Given the description of an element on the screen output the (x, y) to click on. 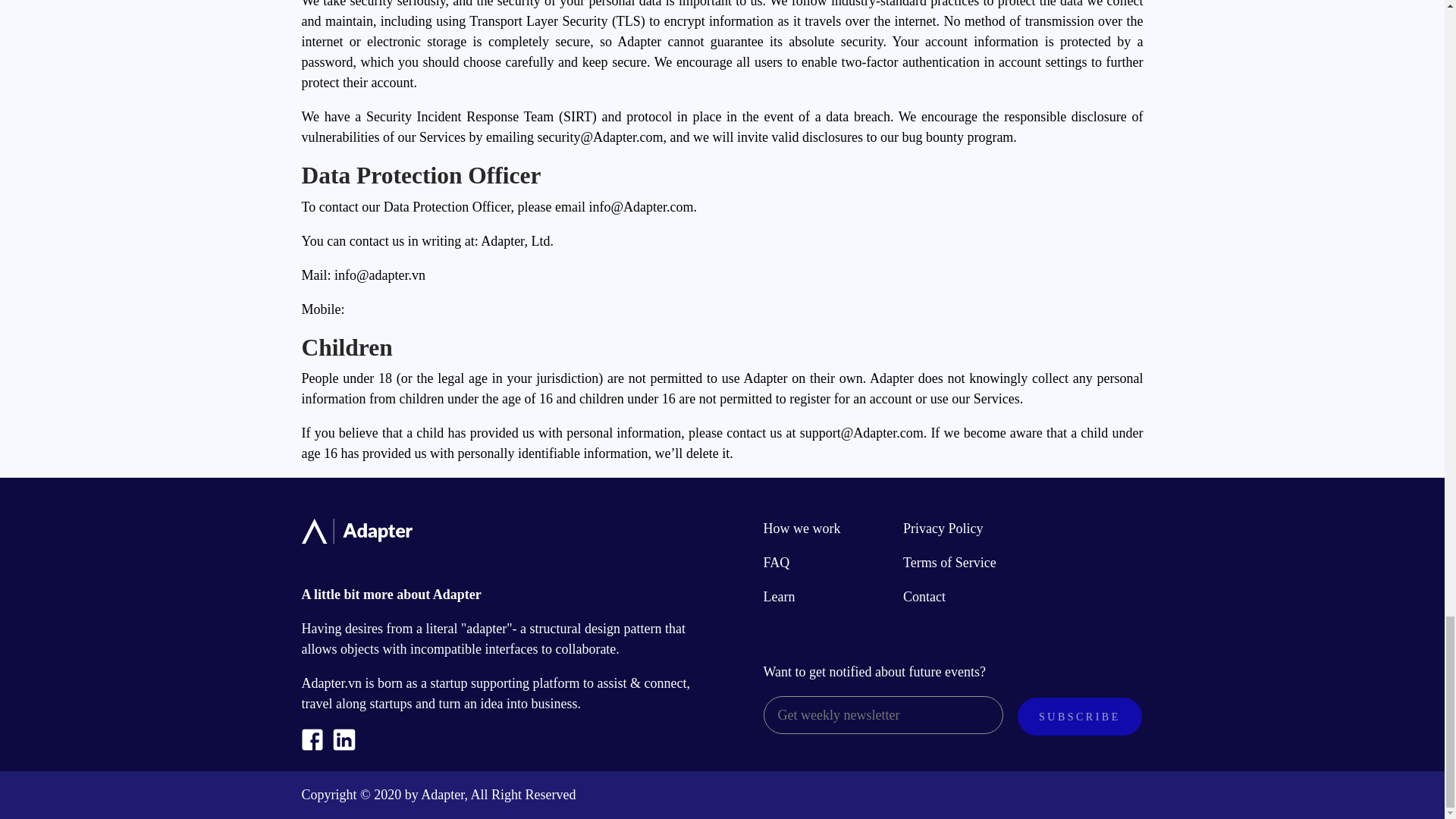
Contact (923, 596)
How we work (801, 528)
Privacy Policy (943, 528)
Learn (778, 596)
SUBSCRIBE (1079, 716)
Terms of Service (948, 562)
FAQ (775, 562)
